Given the description of an element on the screen output the (x, y) to click on. 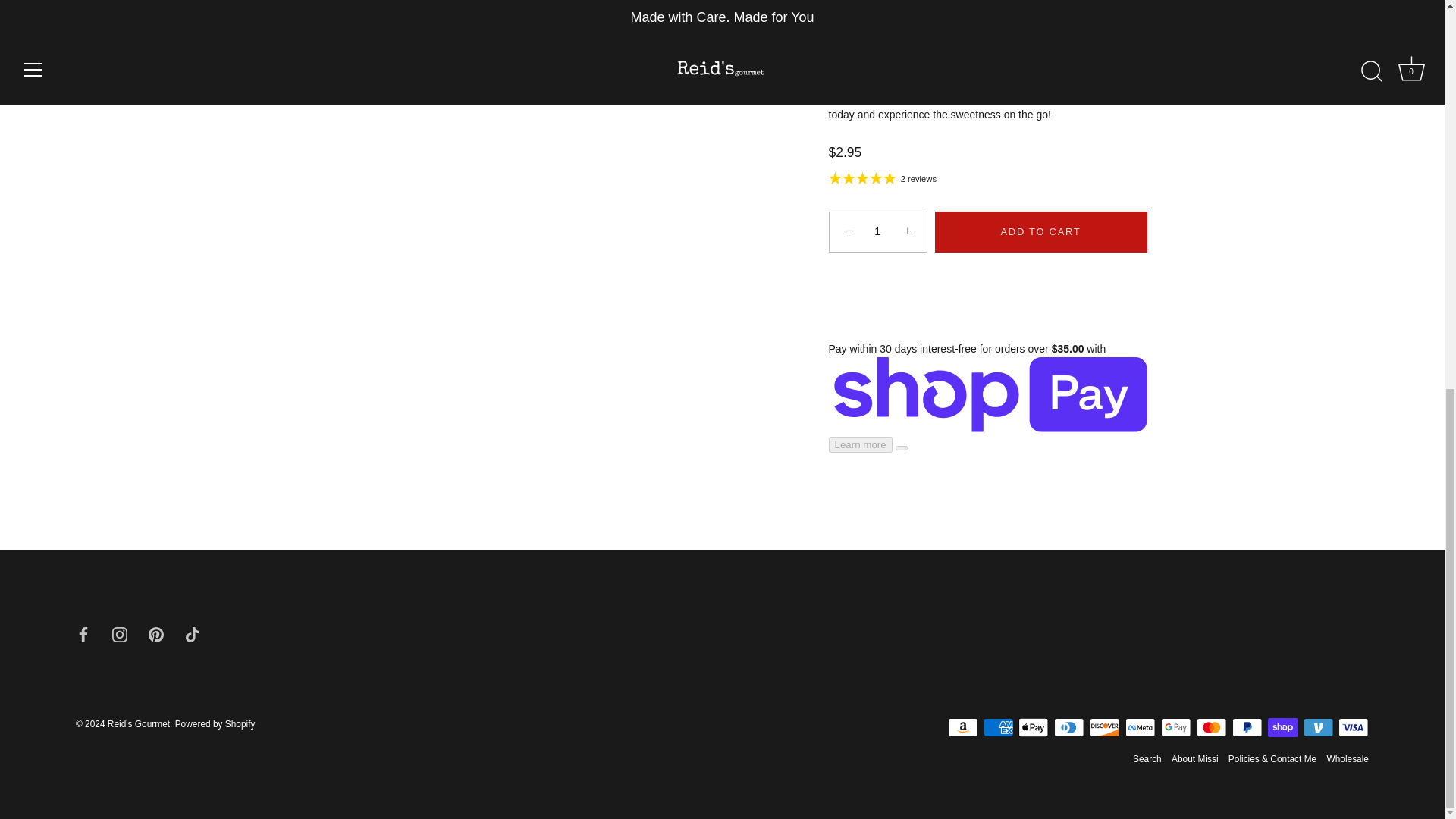
Instagram (120, 634)
Reid's Gourmet (138, 724)
Pinterest (155, 634)
Apple Pay (1032, 727)
Diners Club (1069, 727)
Powered by Shopify (215, 724)
Amazon (962, 727)
Pinterest (155, 633)
Instagram (120, 633)
ADD TO CART (1040, 231)
Search (1146, 758)
Wholesale (1347, 758)
About Missi (1194, 758)
American Express (998, 727)
